Given the description of an element on the screen output the (x, y) to click on. 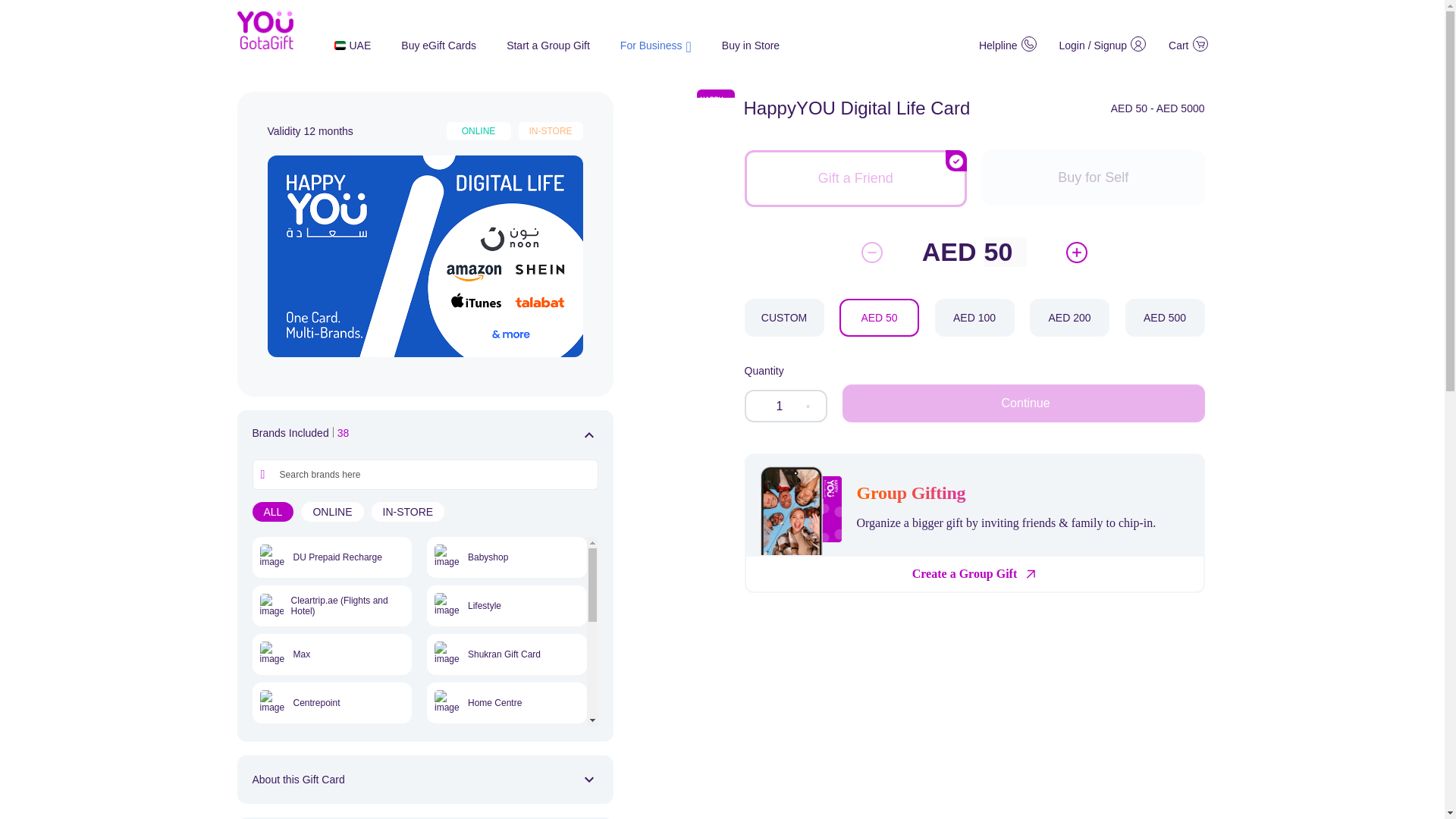
CUSTOM (784, 317)
Group Gifting (924, 493)
For Business (655, 43)
AED 200 (1069, 317)
Buy in Store (750, 45)
1 (785, 405)
IN-STORE (408, 511)
Buy eGift Cards (438, 45)
Continue (1024, 403)
Create a Group Gift (964, 573)
